Given the description of an element on the screen output the (x, y) to click on. 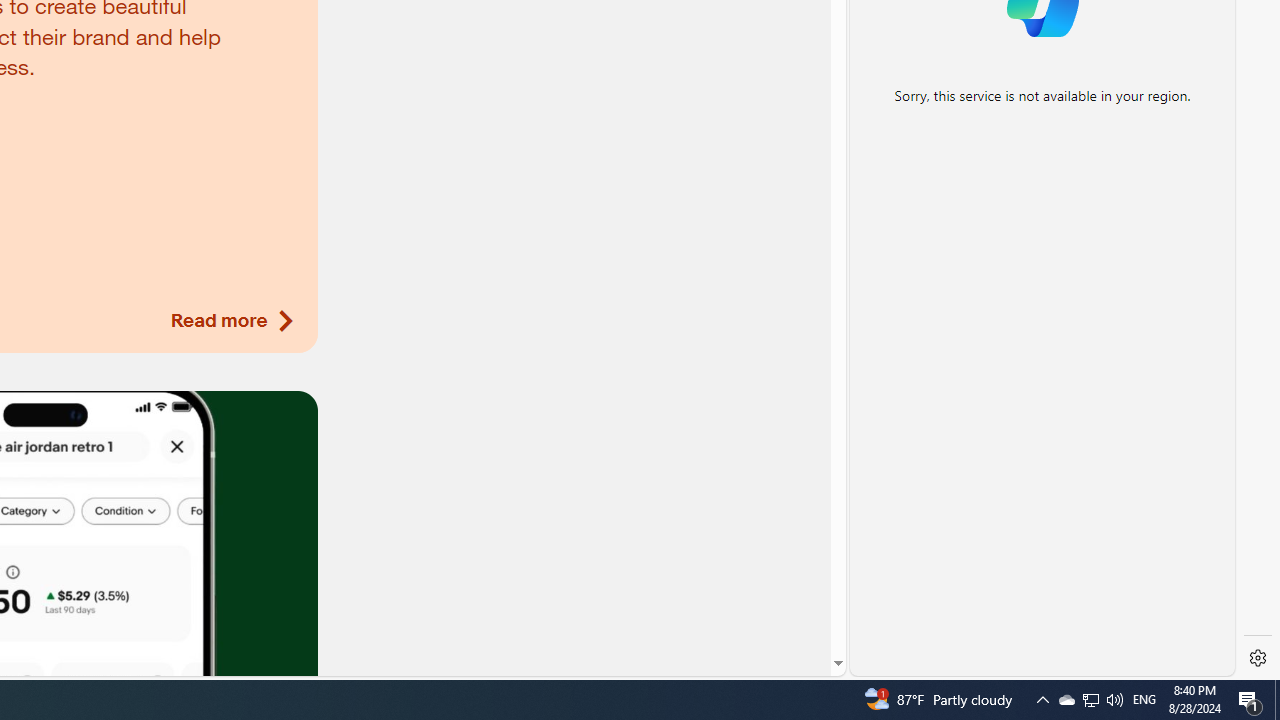
Settings (1258, 658)
